Given the description of an element on the screen output the (x, y) to click on. 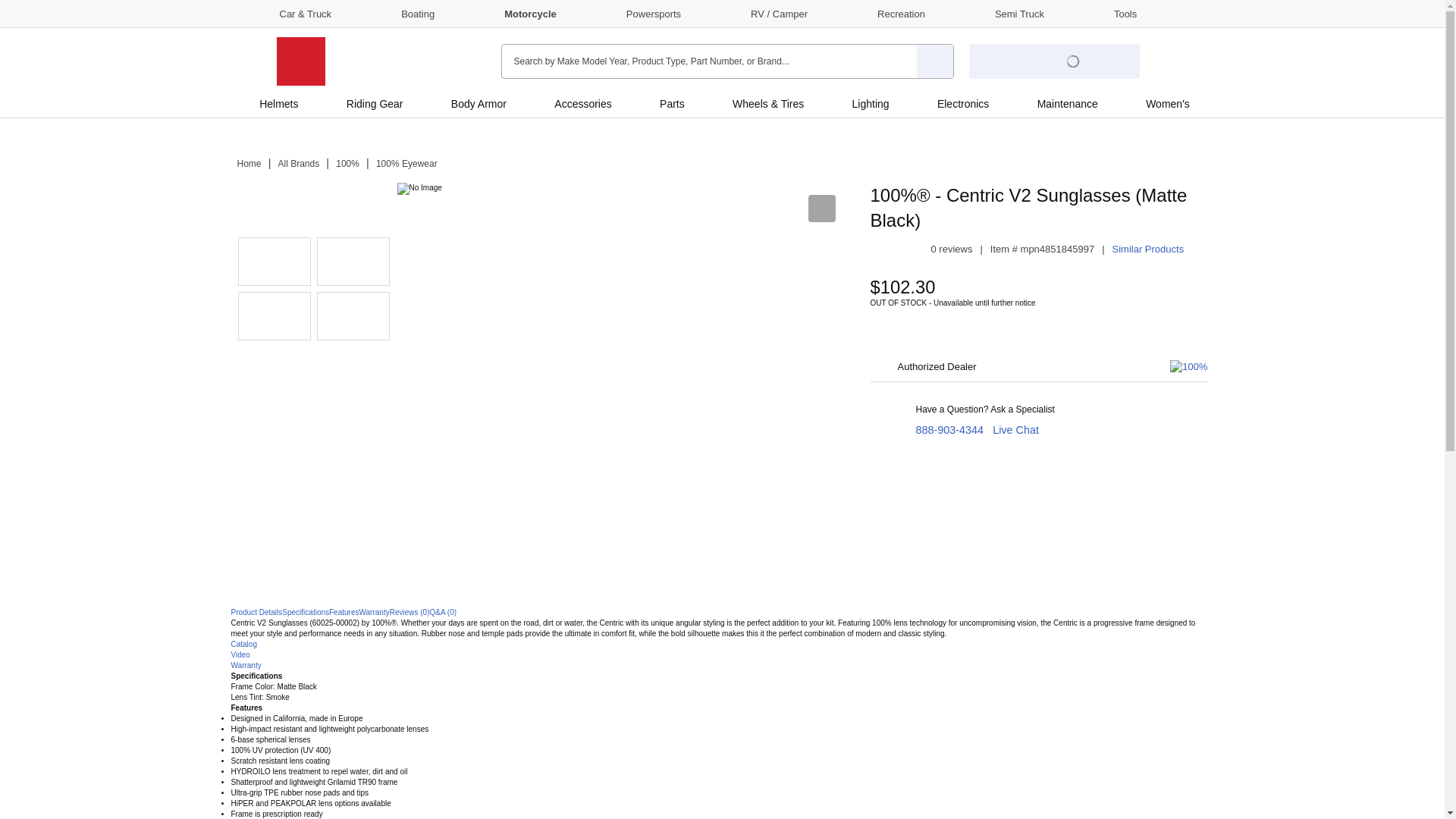
Accessories (582, 103)
Riding Gear (374, 103)
Features (343, 612)
Video (239, 654)
Catalog (243, 643)
Maintenance (1067, 103)
Specifications (305, 612)
MOTORCYCLE (300, 60)
Electronics (962, 103)
Warranty (373, 612)
Tools (1111, 13)
Helmets (278, 103)
Lighting (870, 103)
No Image (274, 206)
Semi Truck (1005, 13)
